Given the description of an element on the screen output the (x, y) to click on. 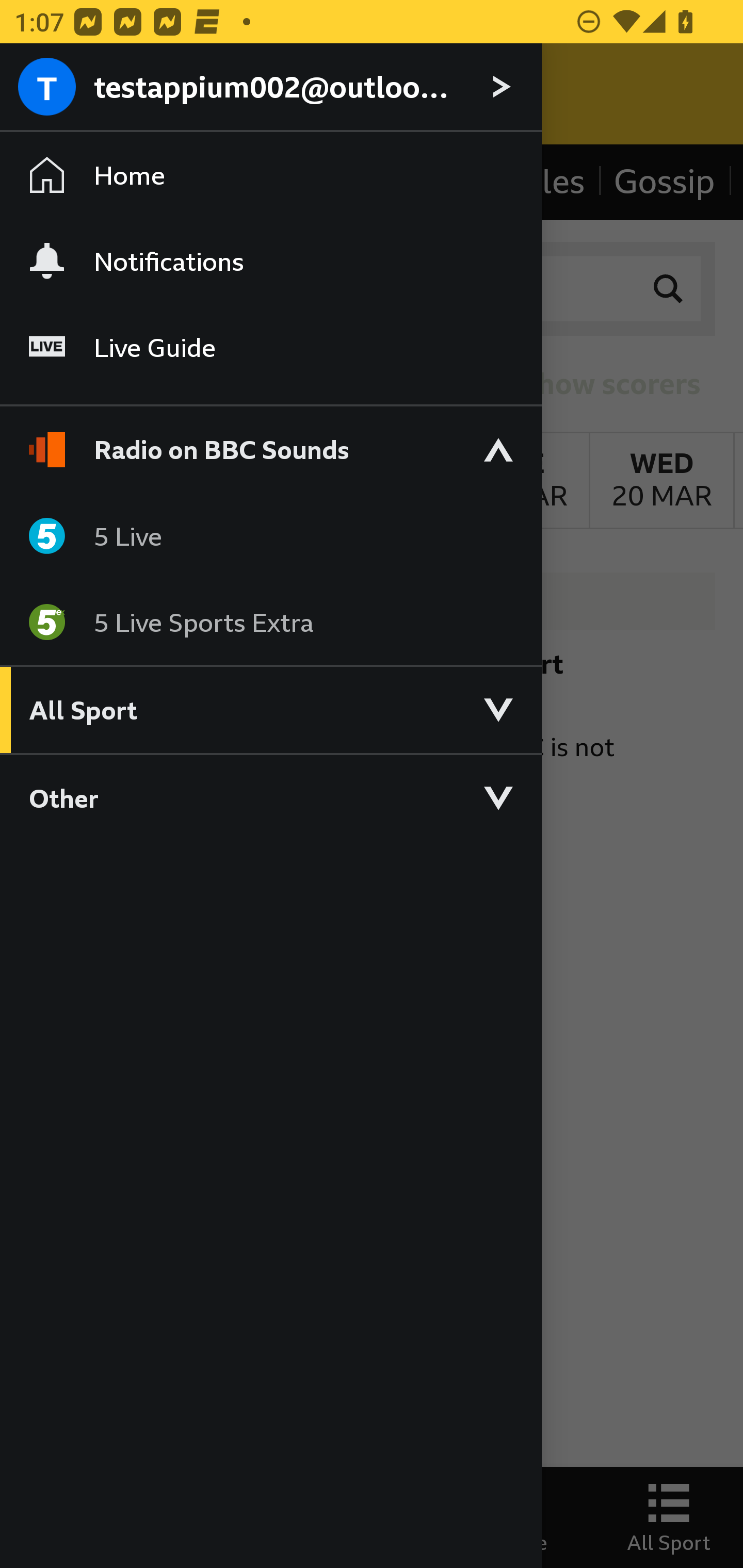
Close Menu (50, 93)
testappium002@outlook.com (270, 87)
Home (270, 174)
Notifications (270, 260)
Live Guide (270, 347)
Radio on BBC Sounds (270, 441)
5 Live (270, 535)
5 Live Sports Extra (270, 621)
All Sport (270, 709)
Other (270, 797)
